Given the description of an element on the screen output the (x, y) to click on. 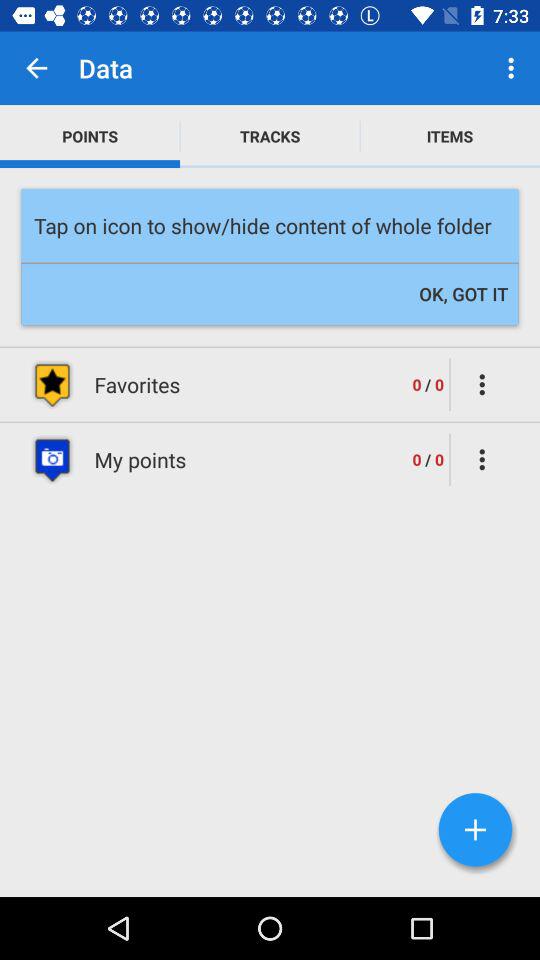
tap icon below points (270, 225)
